Given the description of an element on the screen output the (x, y) to click on. 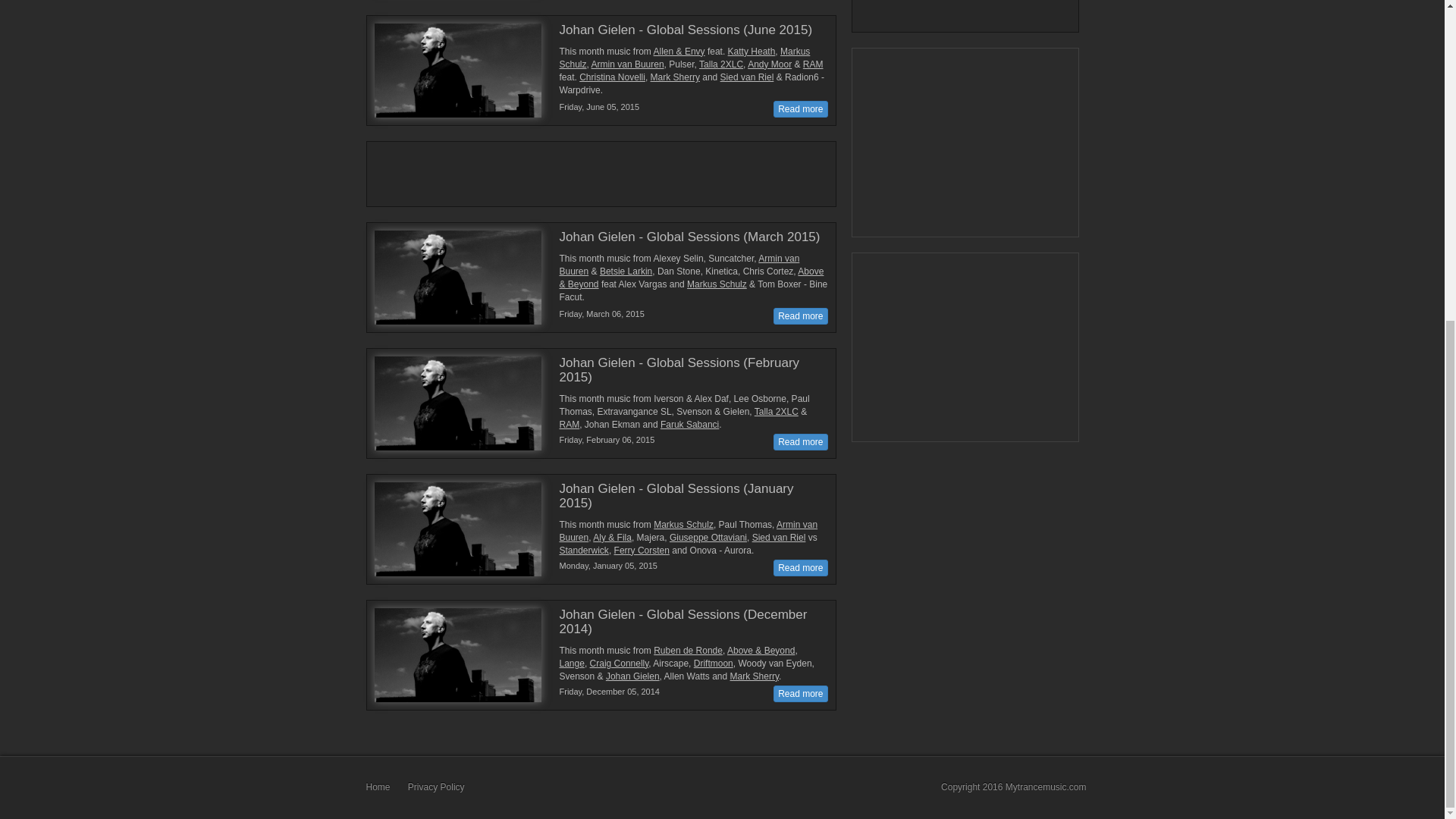
Advertisement (965, 143)
Advertisement (593, 171)
